Given the description of an element on the screen output the (x, y) to click on. 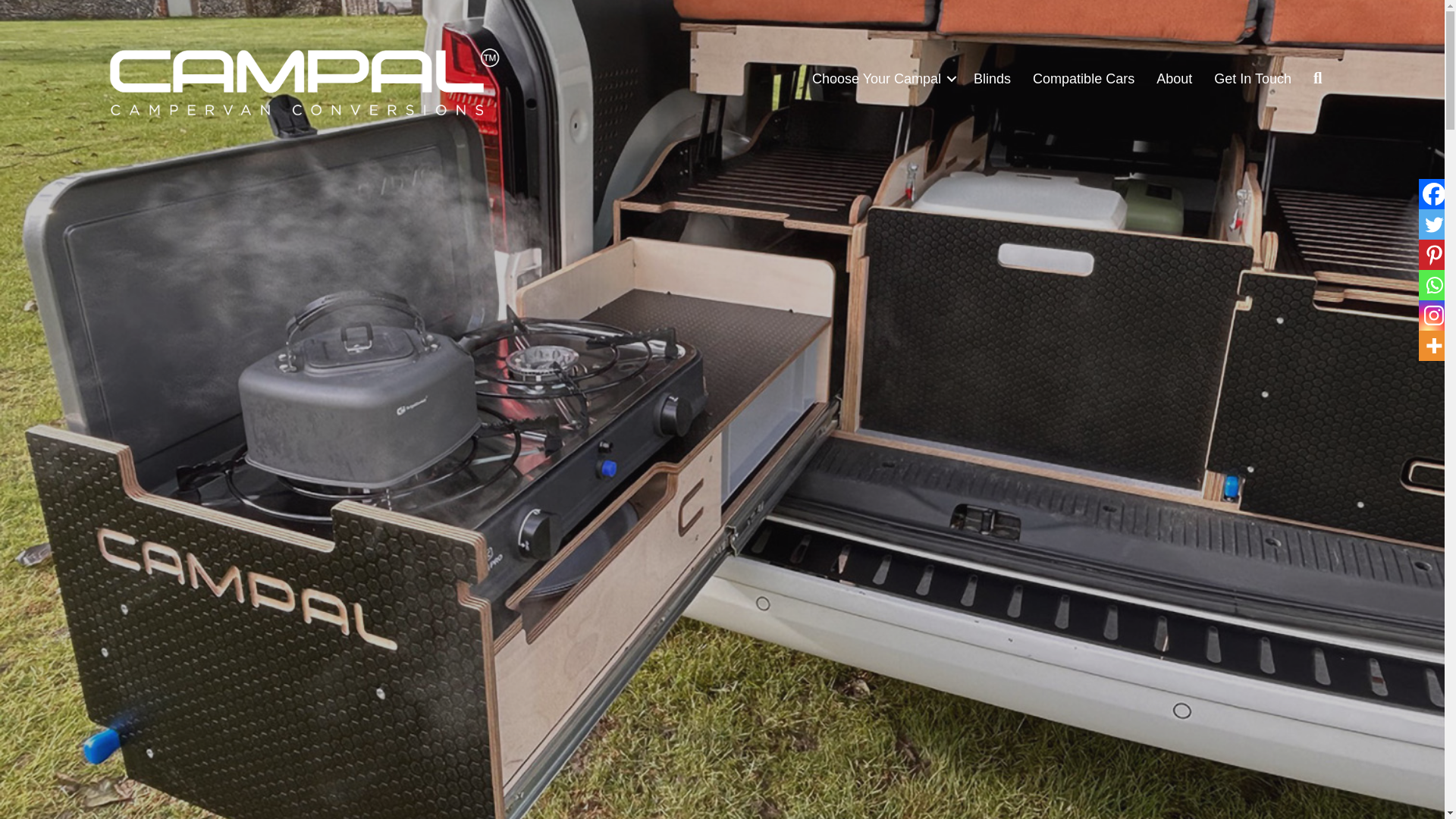
Search (1321, 78)
Compatible Cars (1083, 78)
Blinds (992, 78)
Choose Your Campal (882, 78)
About (1173, 78)
Get In Touch (1252, 78)
